Given the description of an element on the screen output the (x, y) to click on. 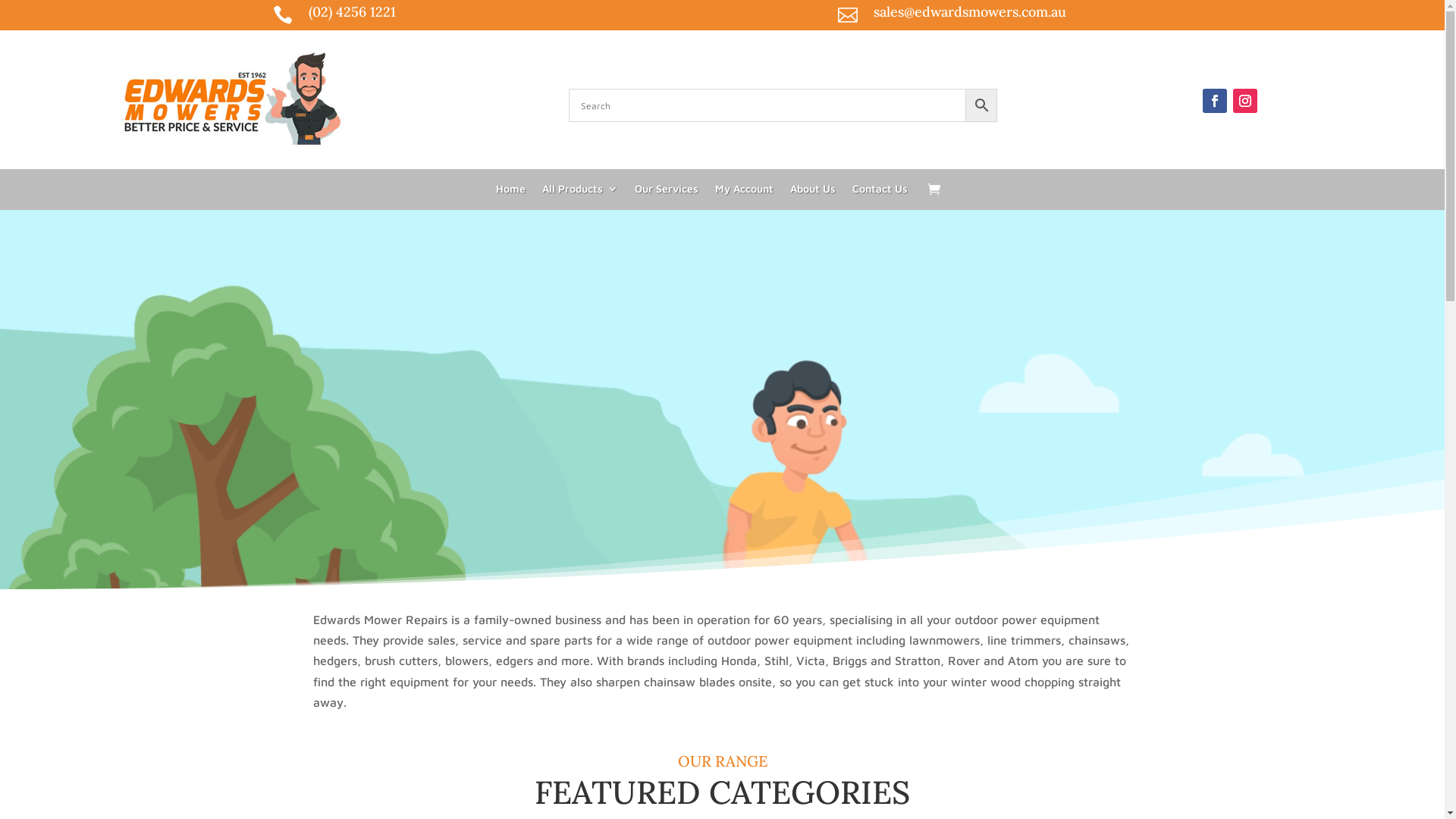
About Us Element type: text (812, 191)
Home Element type: text (510, 191)
My Account Element type: text (744, 191)
Our Services Element type: text (666, 191)
Follow on Facebook Element type: hover (1214, 100)
Follow on Instagram Element type: hover (1245, 100)
Contact Us Element type: text (879, 191)
logo Element type: hover (233, 99)
All Products Element type: text (580, 191)
